Given the description of an element on the screen output the (x, y) to click on. 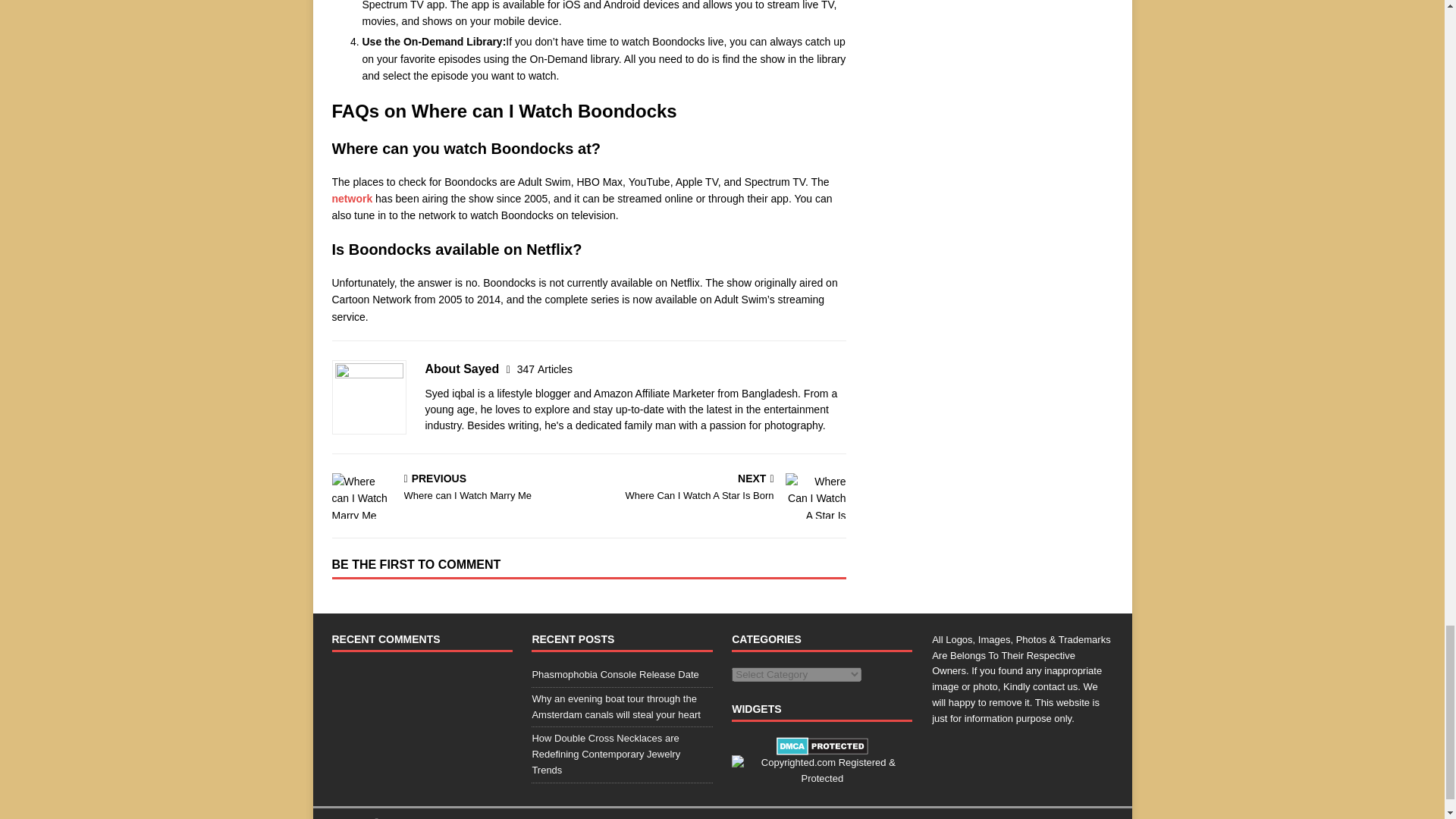
More articles written by Sayed' (544, 369)
DMCA.com Protection Status (821, 746)
